Given the description of an element on the screen output the (x, y) to click on. 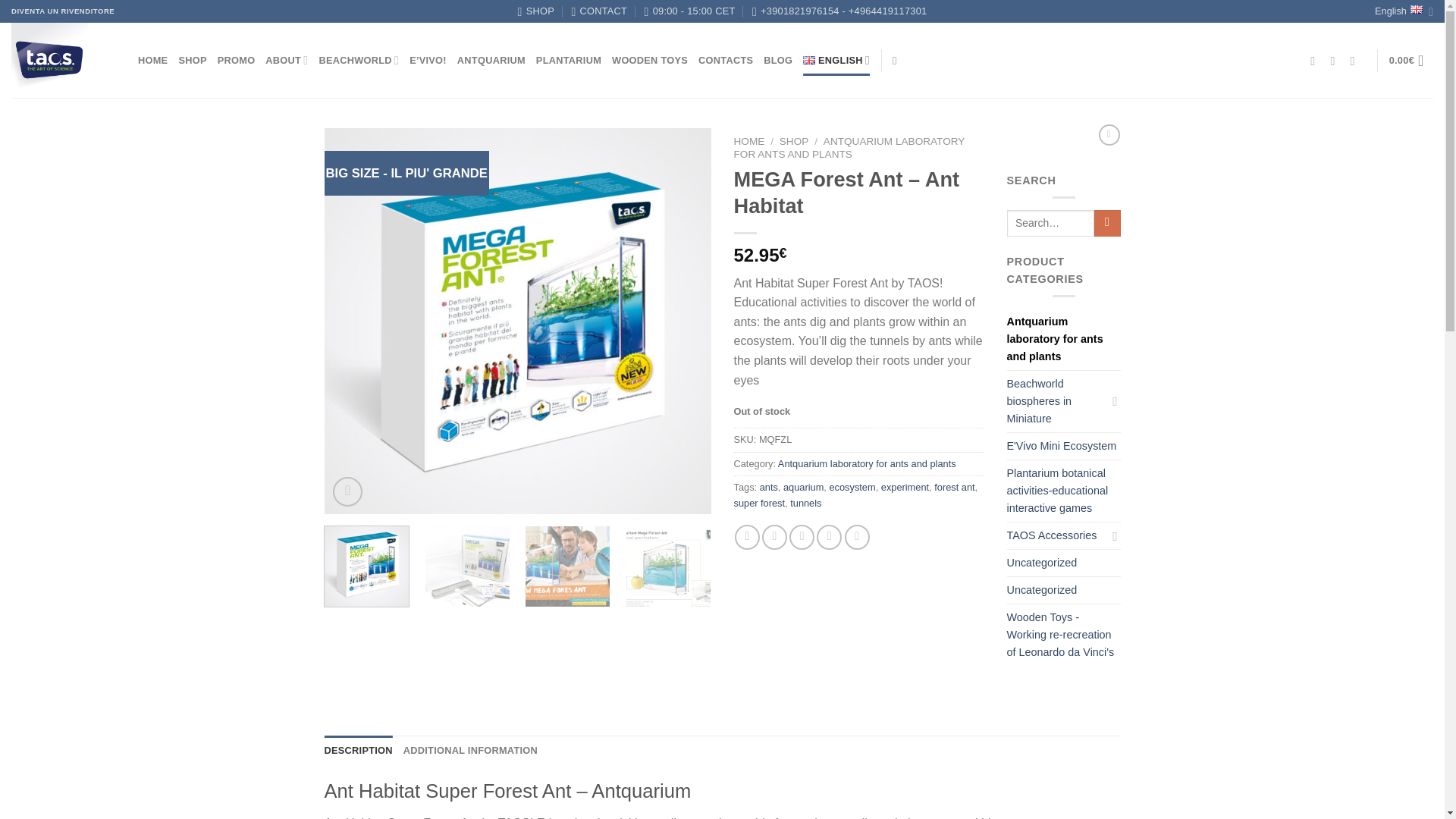
SHOP (536, 11)
BEACHWORLD (358, 60)
English (1403, 11)
CONTACTS (725, 60)
DIVENTA UN RIVENDITORE (63, 11)
Email to a Friend (801, 536)
09:00 - 15:00 CET  (690, 11)
Share on Twitter (774, 536)
Basket (1410, 60)
Follow on YouTube (1355, 60)
Send us an email (1336, 60)
WOODEN TOYS (649, 60)
ENGLISH (836, 60)
ANTQUARIUM (491, 60)
